Given the description of an element on the screen output the (x, y) to click on. 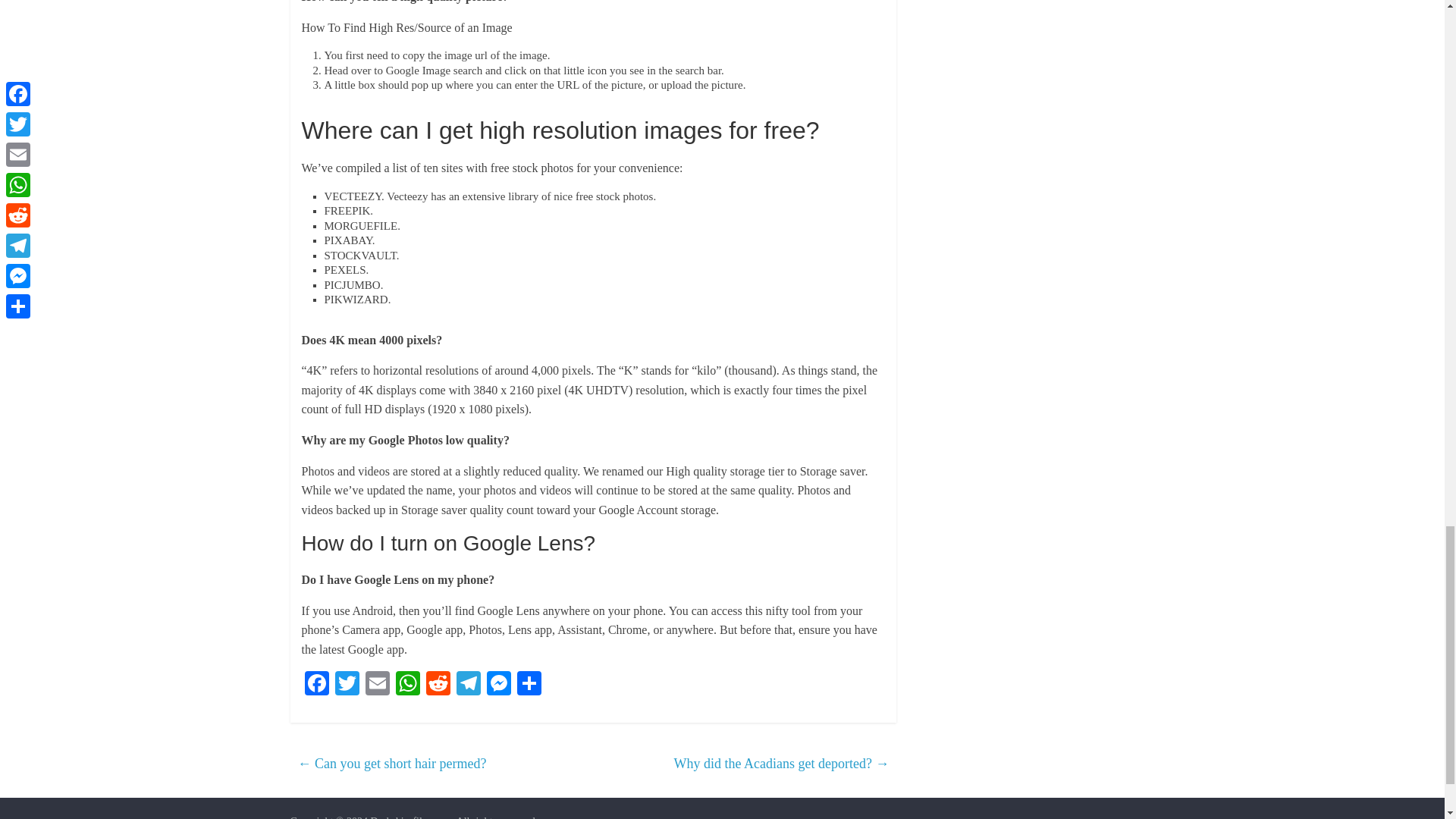
Share (528, 684)
Telegram (467, 684)
Email (377, 684)
Darkskiesfilm.com (410, 817)
Darkskiesfilm.com (410, 817)
Messenger (498, 684)
WhatsApp (408, 684)
Reddit (437, 684)
Facebook (316, 684)
Twitter (346, 684)
WhatsApp (408, 684)
Twitter (346, 684)
Telegram (467, 684)
Email (377, 684)
Facebook (316, 684)
